Given the description of an element on the screen output the (x, y) to click on. 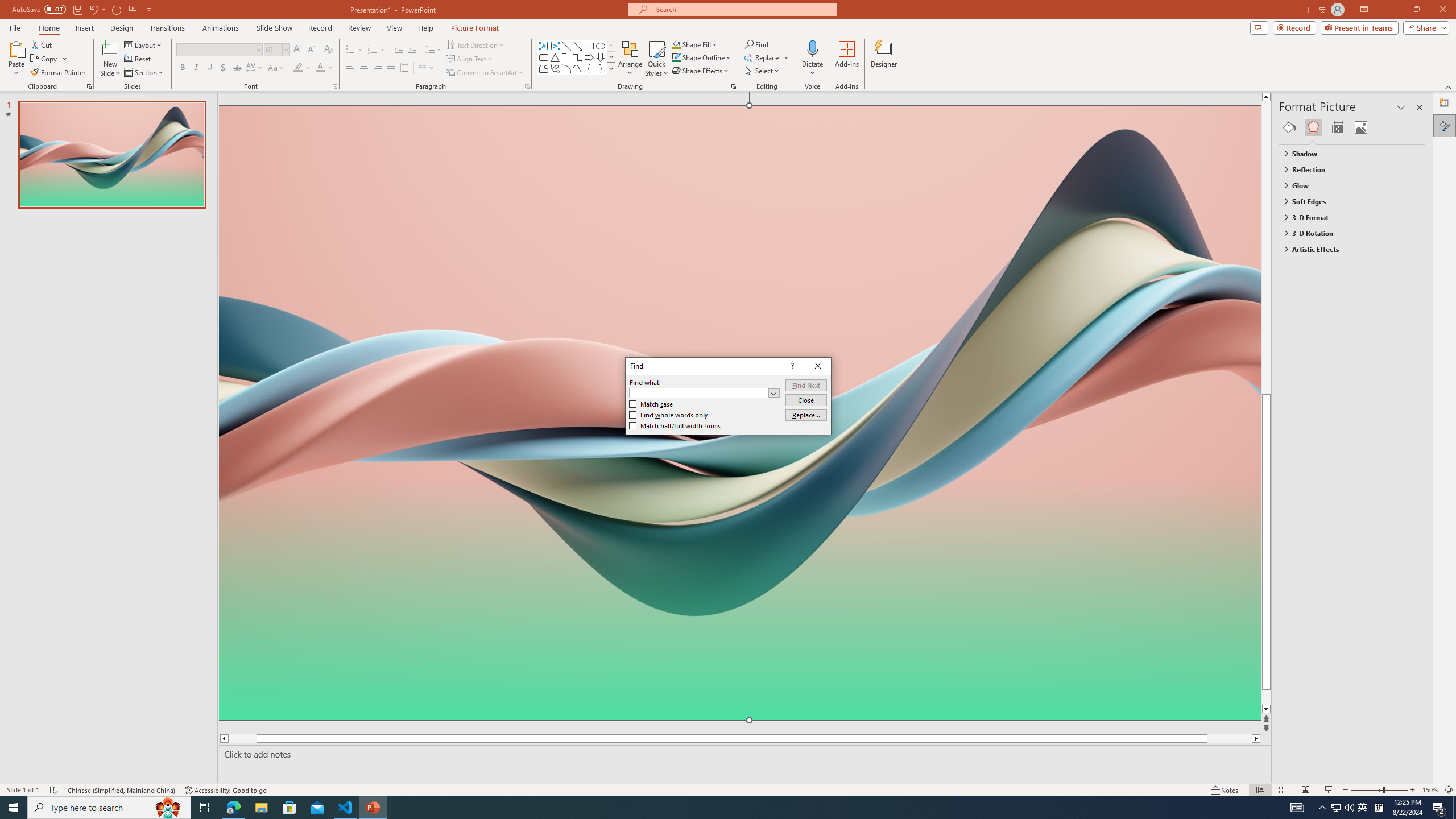
Transitions (167, 28)
Left Brace (589, 68)
Home (48, 28)
Quick Styles (656, 58)
Columns (426, 67)
Picture (1361, 126)
Designer (883, 58)
Slide (1362, 807)
